Given the description of an element on the screen output the (x, y) to click on. 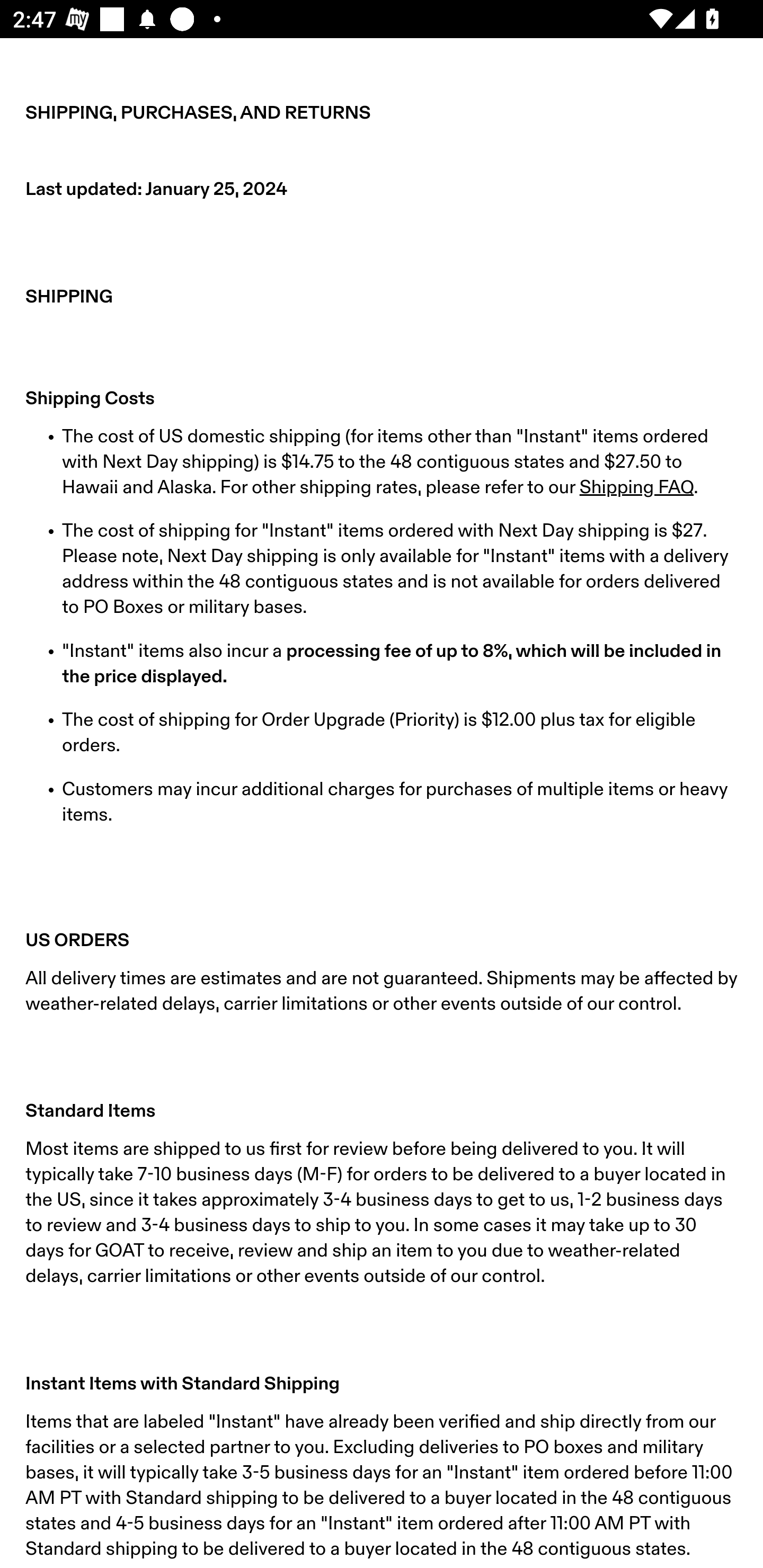
Shipping FAQ (636, 487)
